Given the description of an element on the screen output the (x, y) to click on. 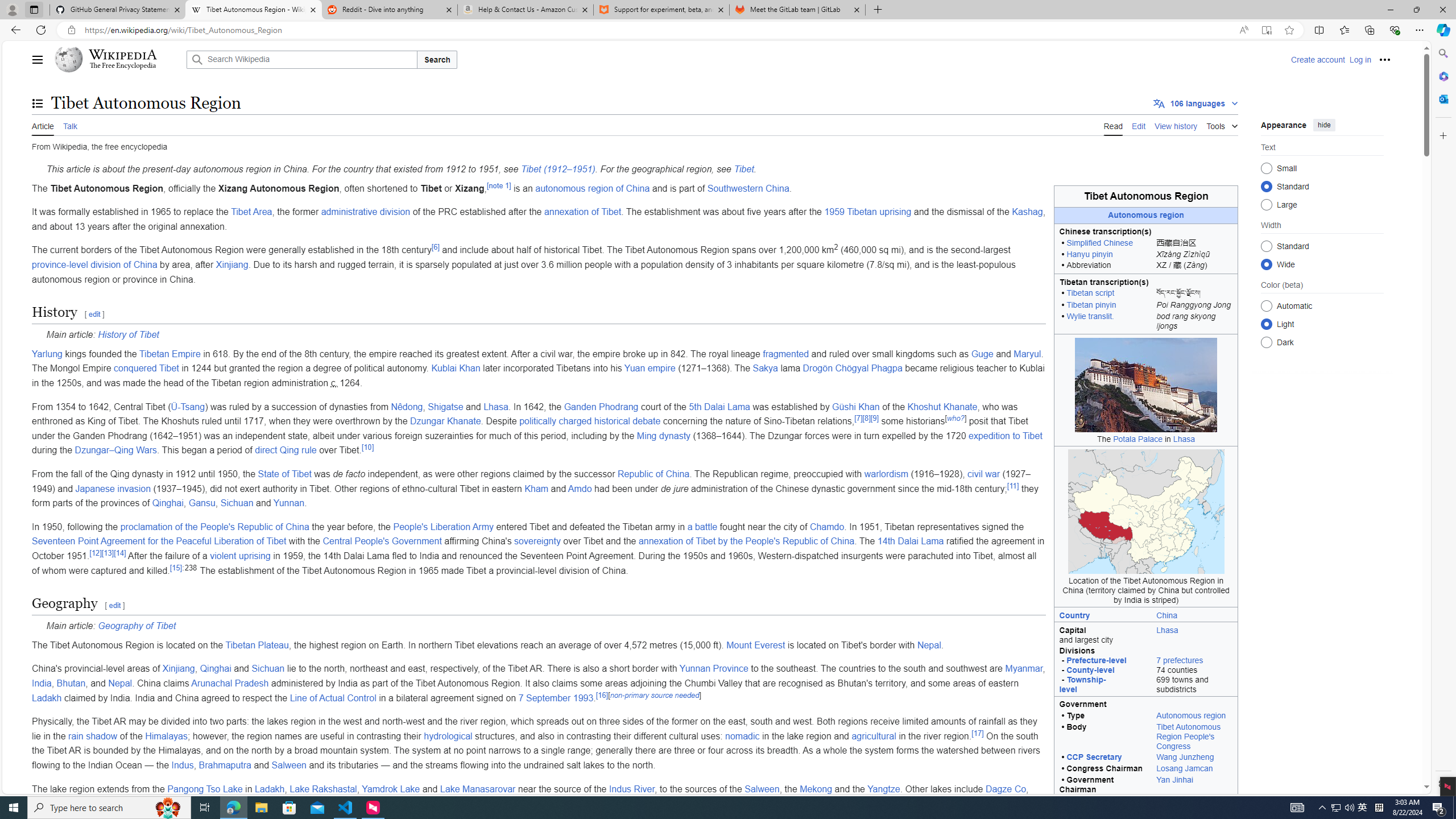
Guge (981, 353)
[11] (1012, 485)
Mount Everest (755, 644)
View history (1176, 124)
Talk (69, 124)
Tibet Autonomous Region People's Congress (1188, 736)
History of Tibet (127, 334)
Indus River (631, 788)
warlordism (885, 474)
